Given the description of an element on the screen output the (x, y) to click on. 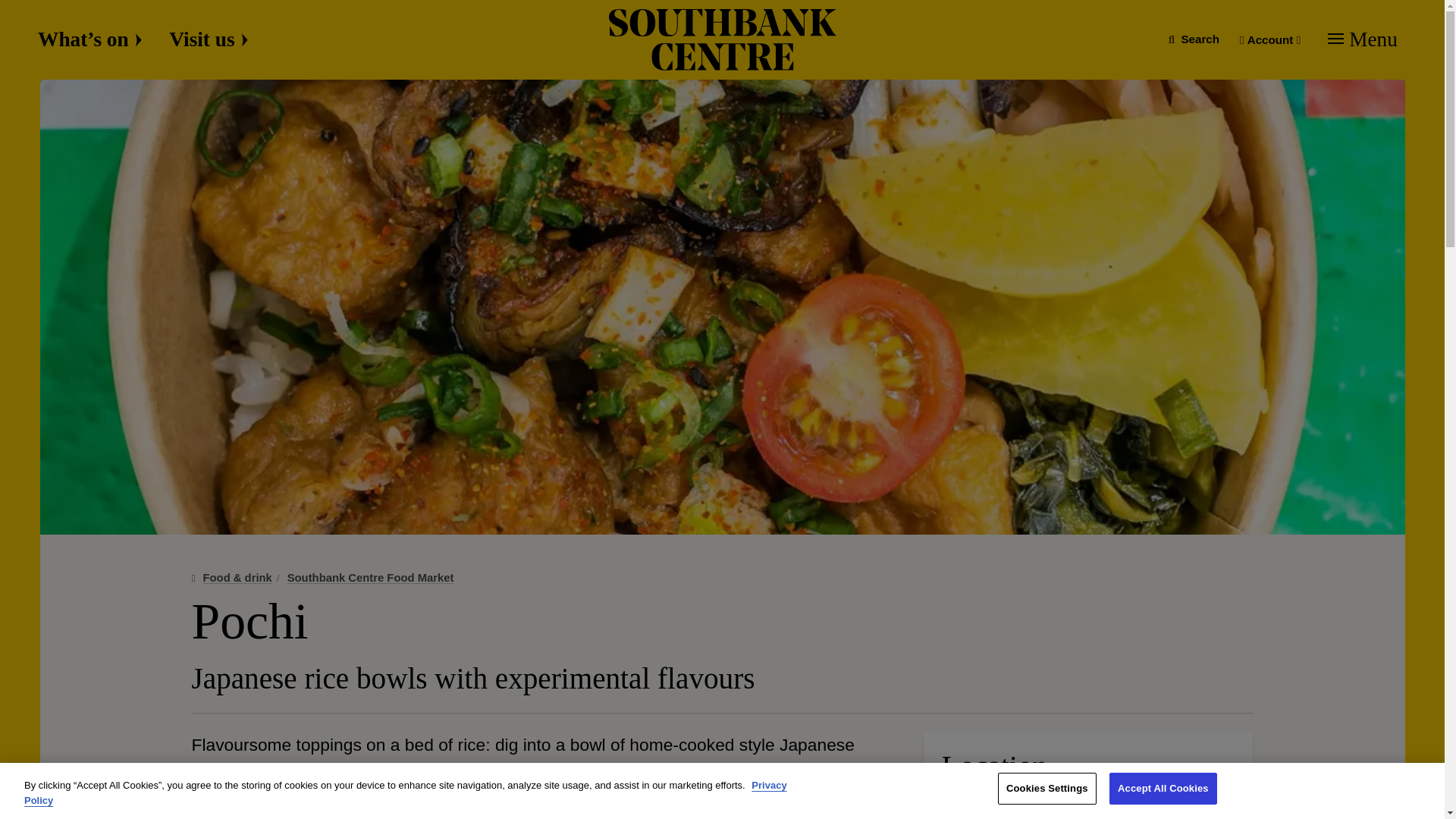
Account (1270, 39)
Search (1193, 39)
Visit us (207, 40)
Go to the Southbank Centre homepage (721, 39)
Go to the homepage (721, 39)
